Given the description of an element on the screen output the (x, y) to click on. 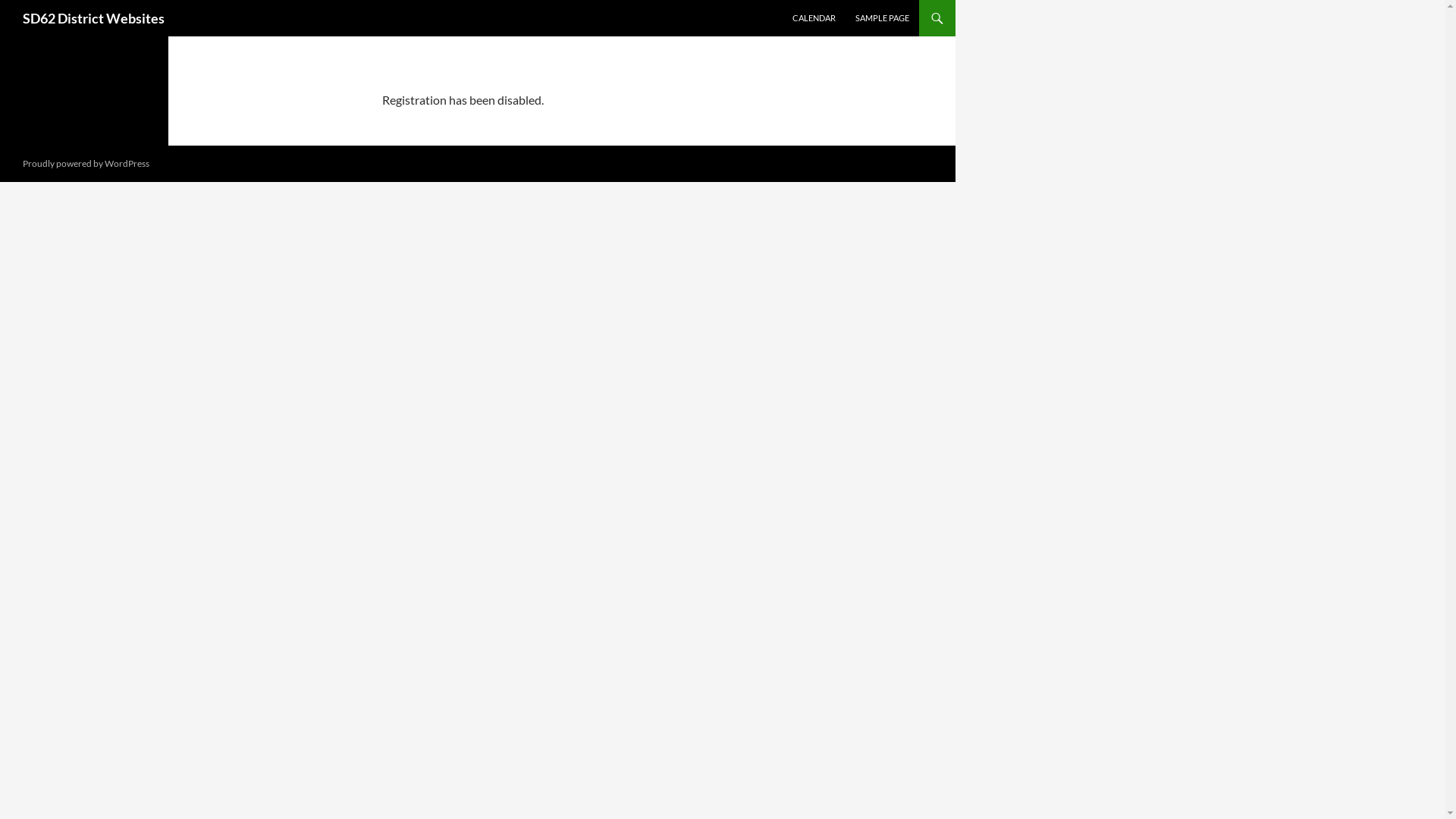
SAMPLE PAGE Element type: text (882, 18)
Search Element type: text (3, 0)
Proudly powered by WordPress Element type: text (85, 163)
SD62 District Websites Element type: text (93, 18)
CALENDAR Element type: text (813, 18)
SKIP TO CONTENT Element type: text (792, 0)
